Given the description of an element on the screen output the (x, y) to click on. 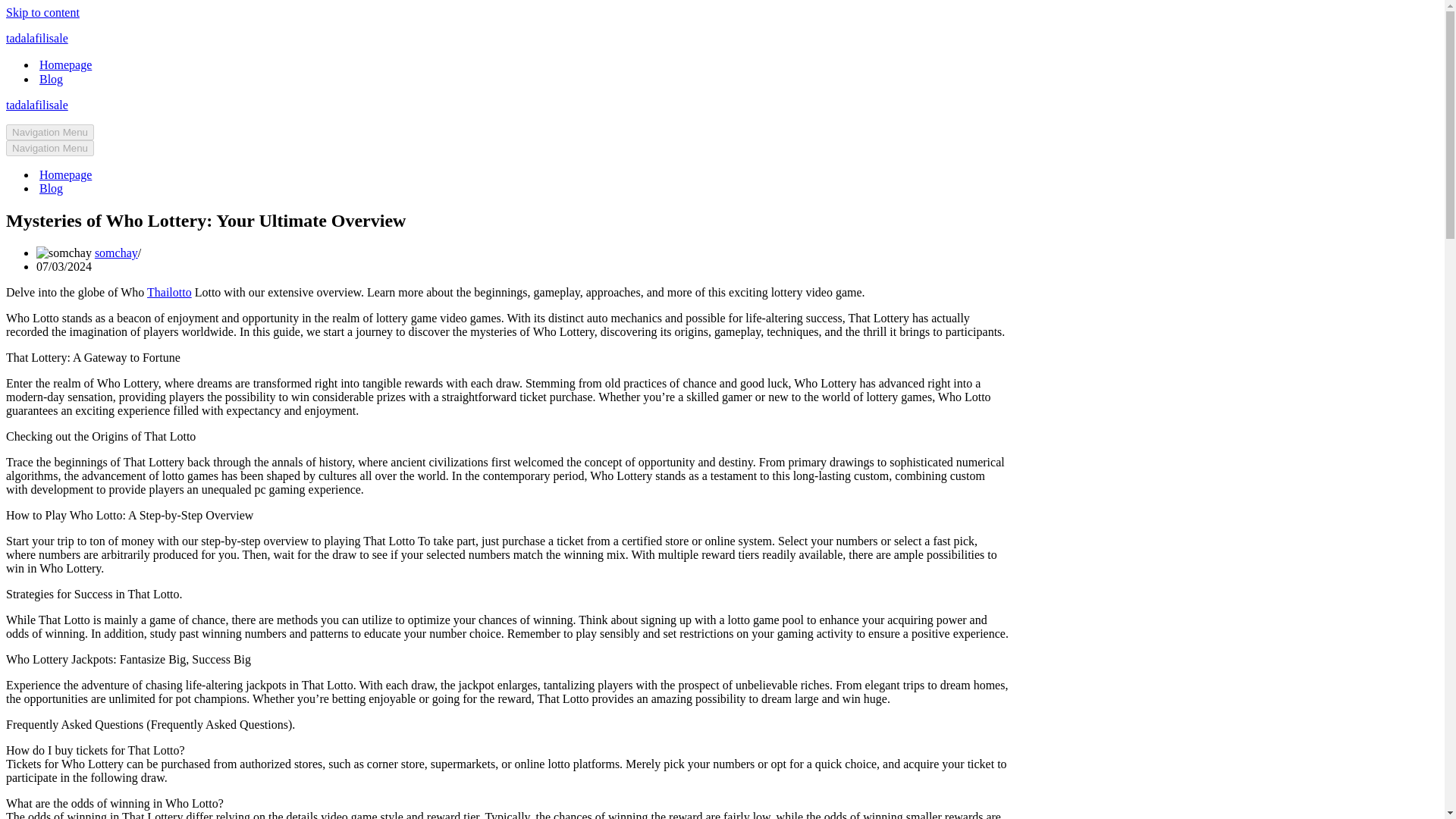
Navigation Menu (49, 132)
Blog (50, 188)
Navigation Menu (49, 148)
somchay (116, 252)
Skip to content (42, 11)
Posts by somchay (116, 252)
Homepage (65, 64)
Homepage (65, 174)
Thailotto (169, 291)
Blog (50, 79)
